Given the description of an element on the screen output the (x, y) to click on. 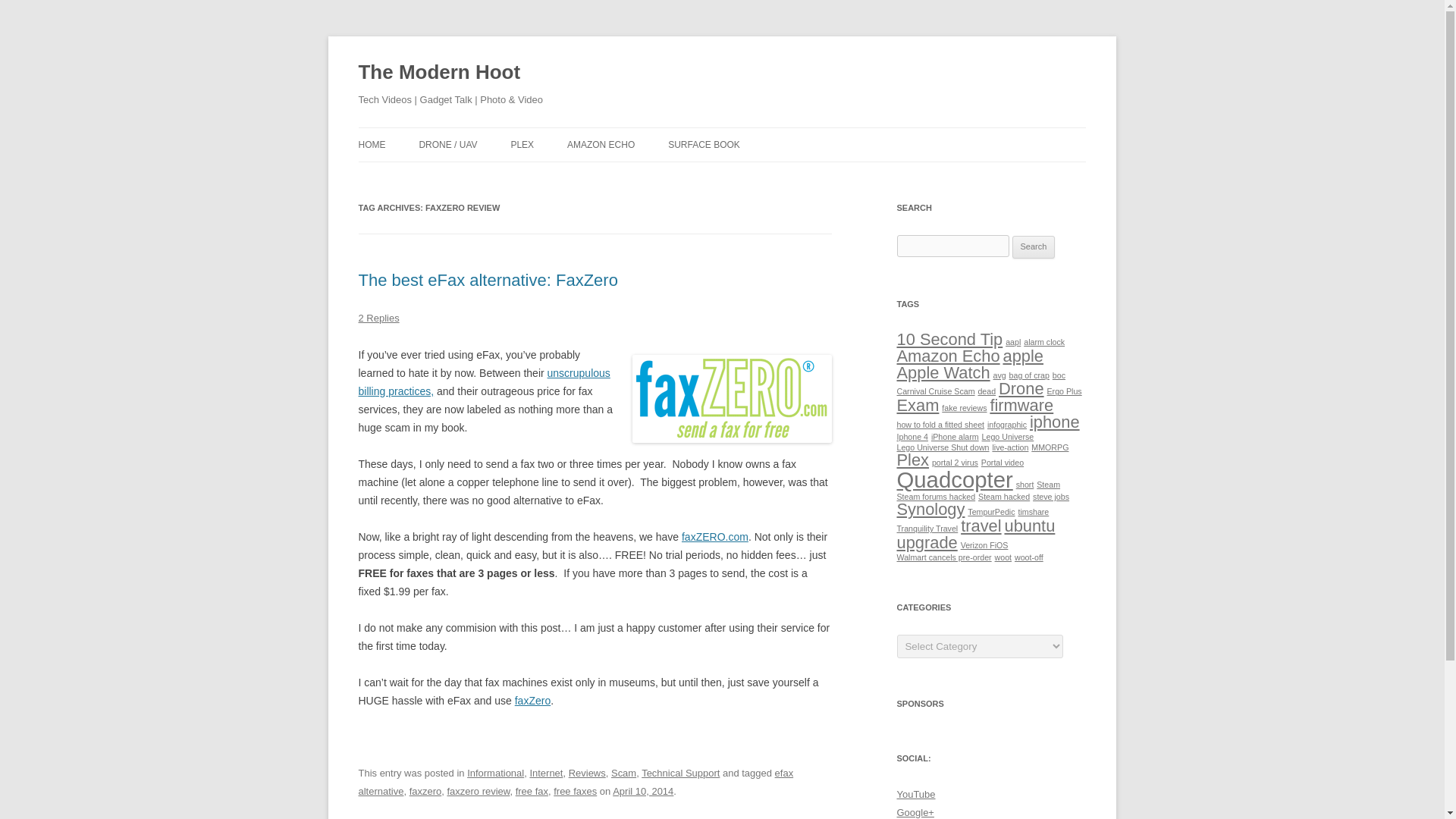
alarm clock (1043, 341)
PLEX (522, 144)
The Modern Hoot (438, 72)
HOME (371, 144)
Search (1033, 246)
The best eFax alternative: FaxZero (487, 280)
Drone (1020, 388)
avg (999, 375)
faxZERO.com (714, 536)
Search (1033, 246)
bag of crap (1029, 375)
dead (985, 390)
Scam (623, 772)
free faxes (574, 790)
free fax (531, 790)
